Given the description of an element on the screen output the (x, y) to click on. 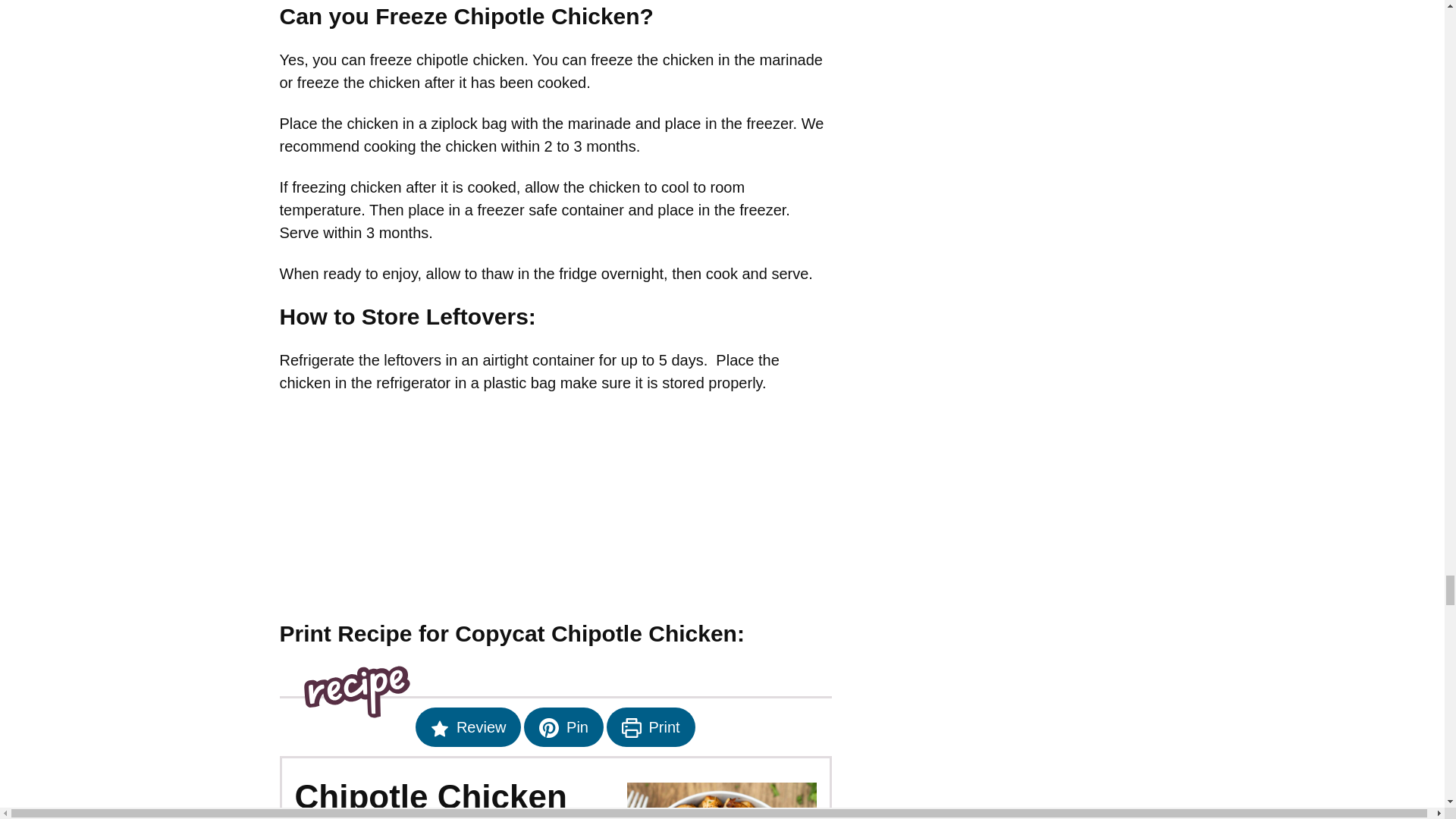
Review (467, 726)
Print (651, 726)
Pin (563, 726)
